Given the description of an element on the screen output the (x, y) to click on. 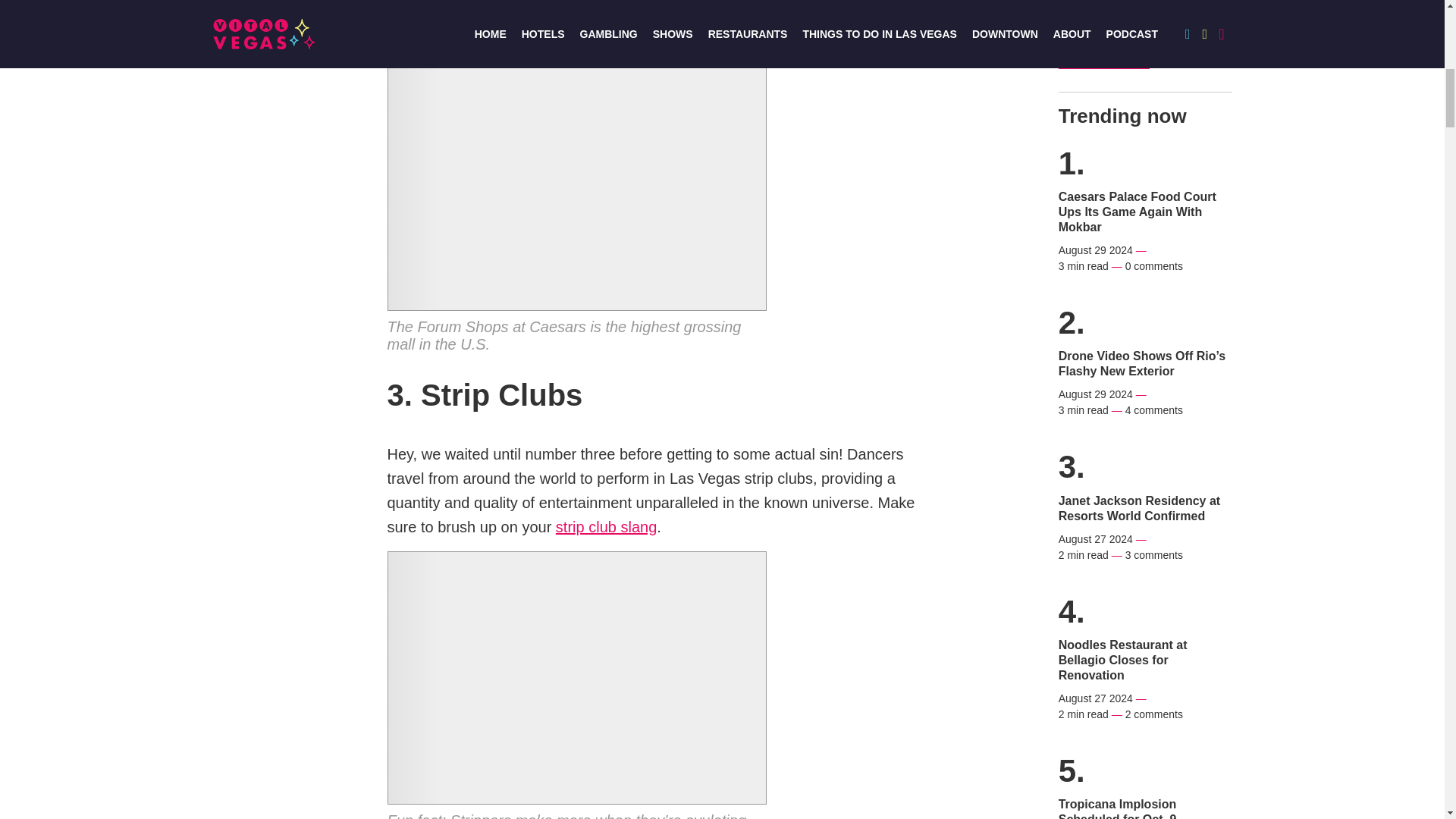
strip club slang (606, 526)
See More (1104, 52)
Caesars Palace Food Court Ups Its Game Again With Mokbar (1144, 212)
Free Las Vegas (1104, 52)
